Given the description of an element on the screen output the (x, y) to click on. 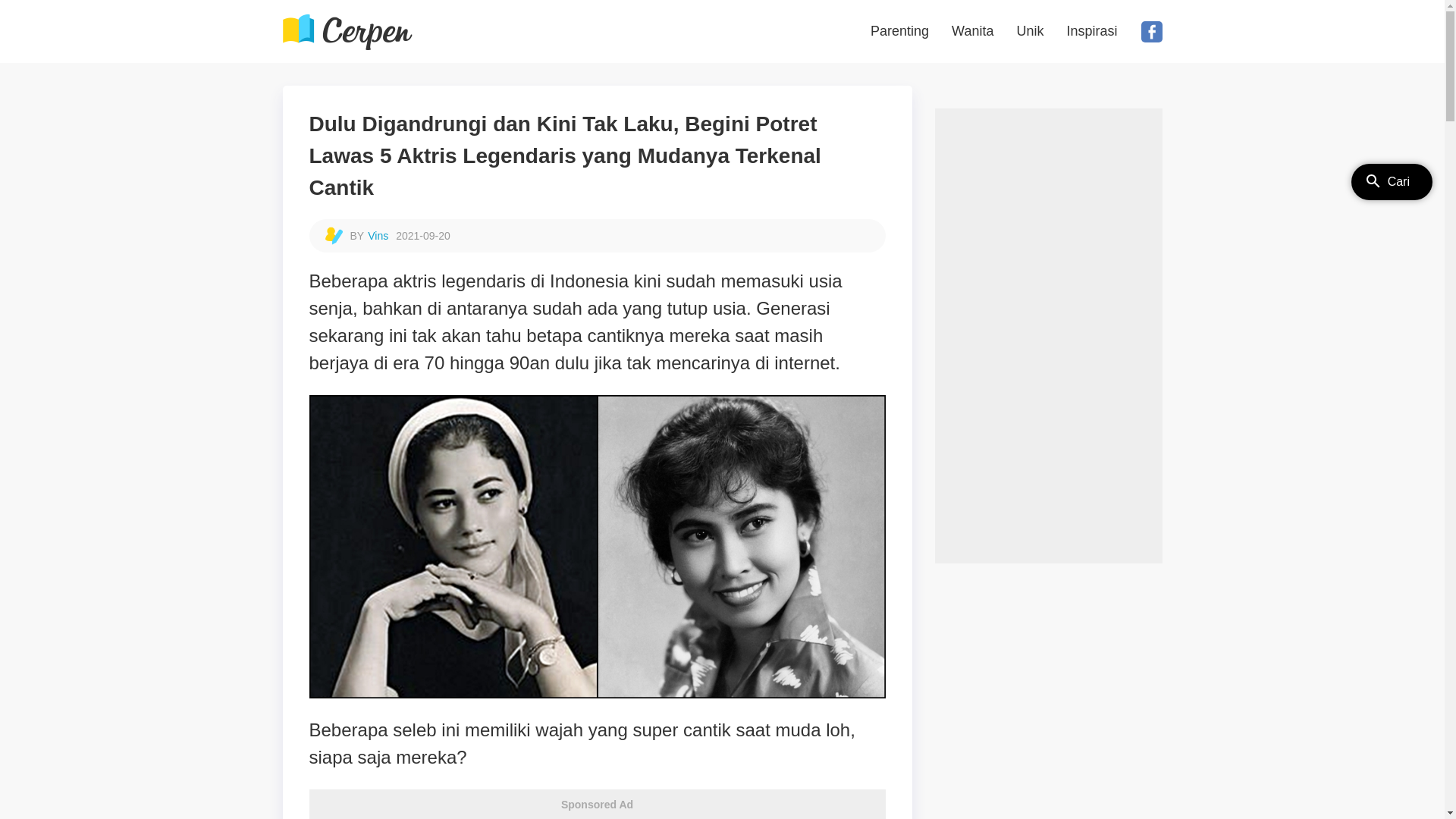
Unik Element type: text (1029, 31)
Cerpen.cc Element type: hover (346, 31)
Advertisement Element type: hover (1047, 335)
Wanita Element type: text (972, 31)
Inspirasi Element type: text (1091, 31)
Parenting Element type: text (899, 31)
Vins Element type: text (377, 235)
